Given the description of an element on the screen output the (x, y) to click on. 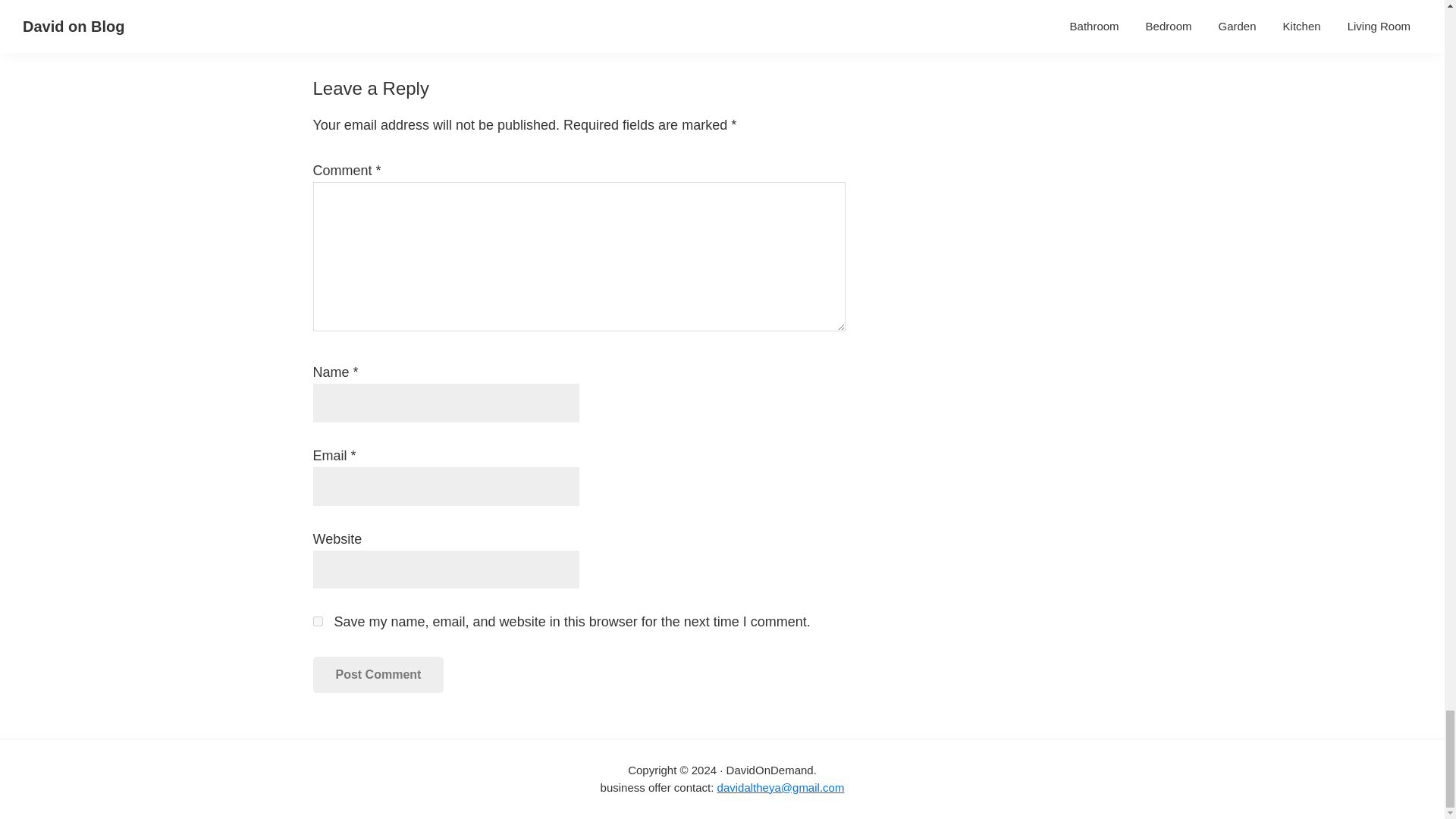
Post Comment (378, 674)
Post Comment (378, 674)
yes (317, 621)
